Given the description of an element on the screen output the (x, y) to click on. 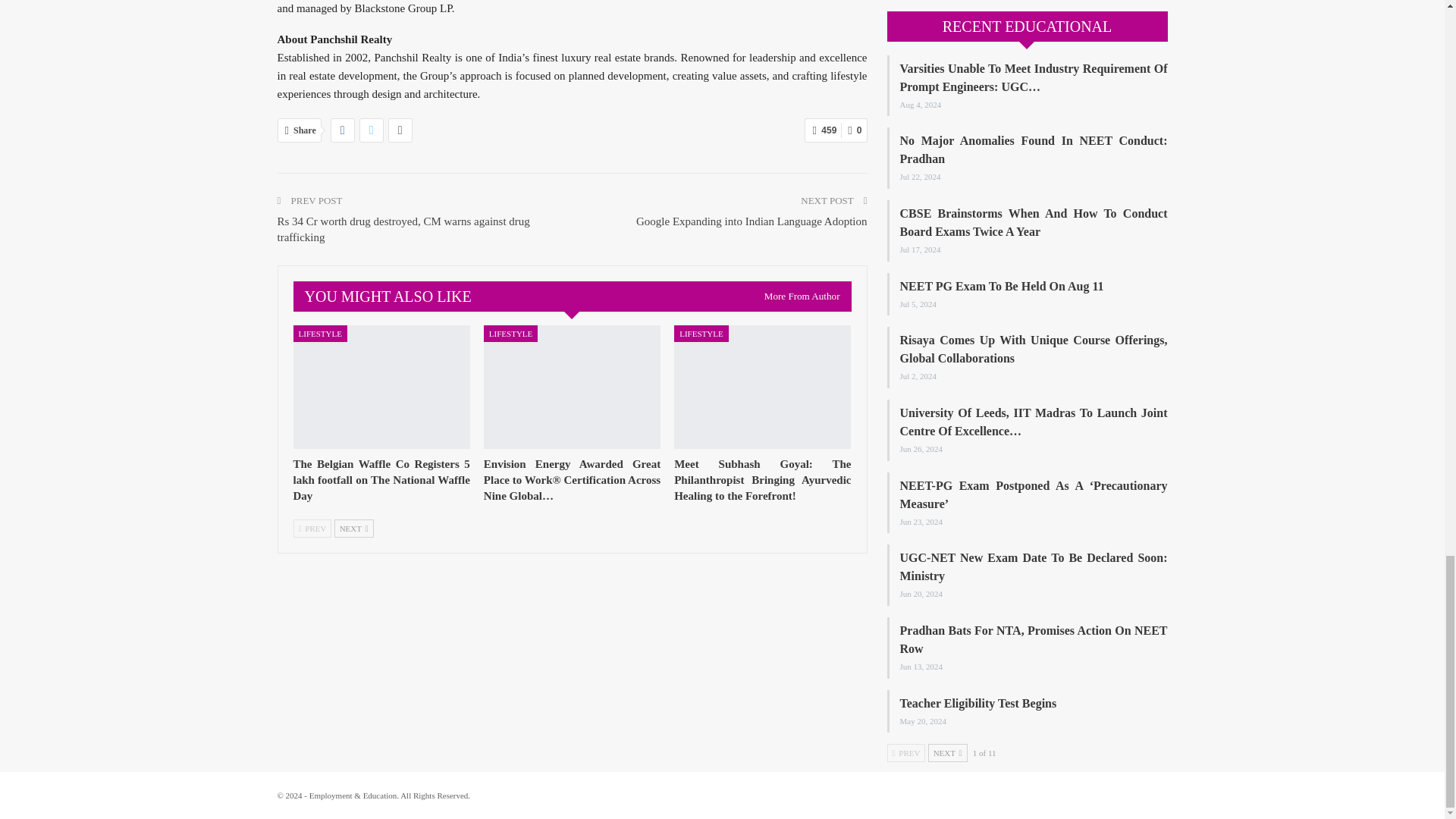
Previous (311, 528)
